Given the description of an element on the screen output the (x, y) to click on. 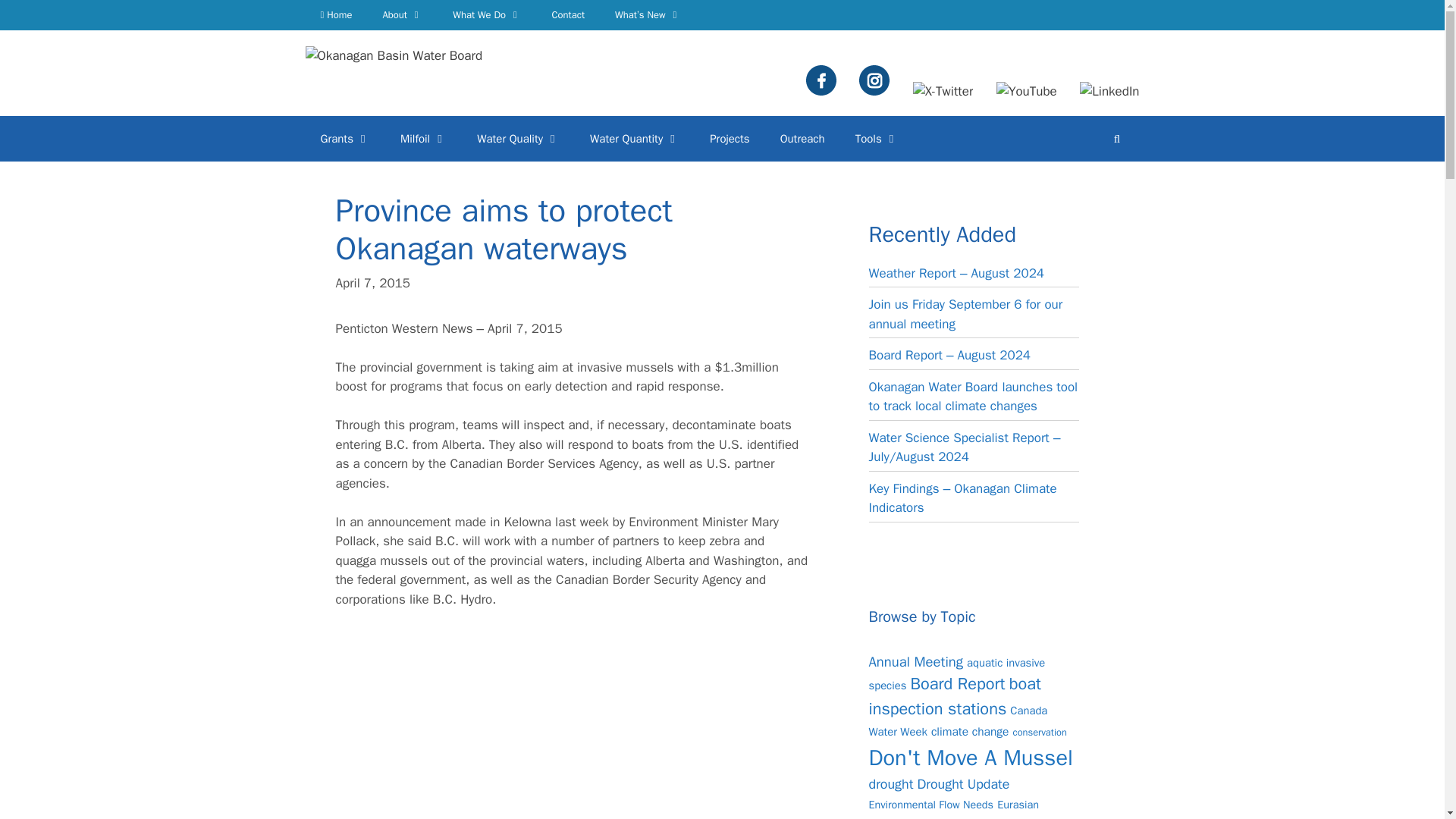
Home (335, 15)
What We Do (486, 15)
About (402, 15)
Contact (567, 15)
